Given the description of an element on the screen output the (x, y) to click on. 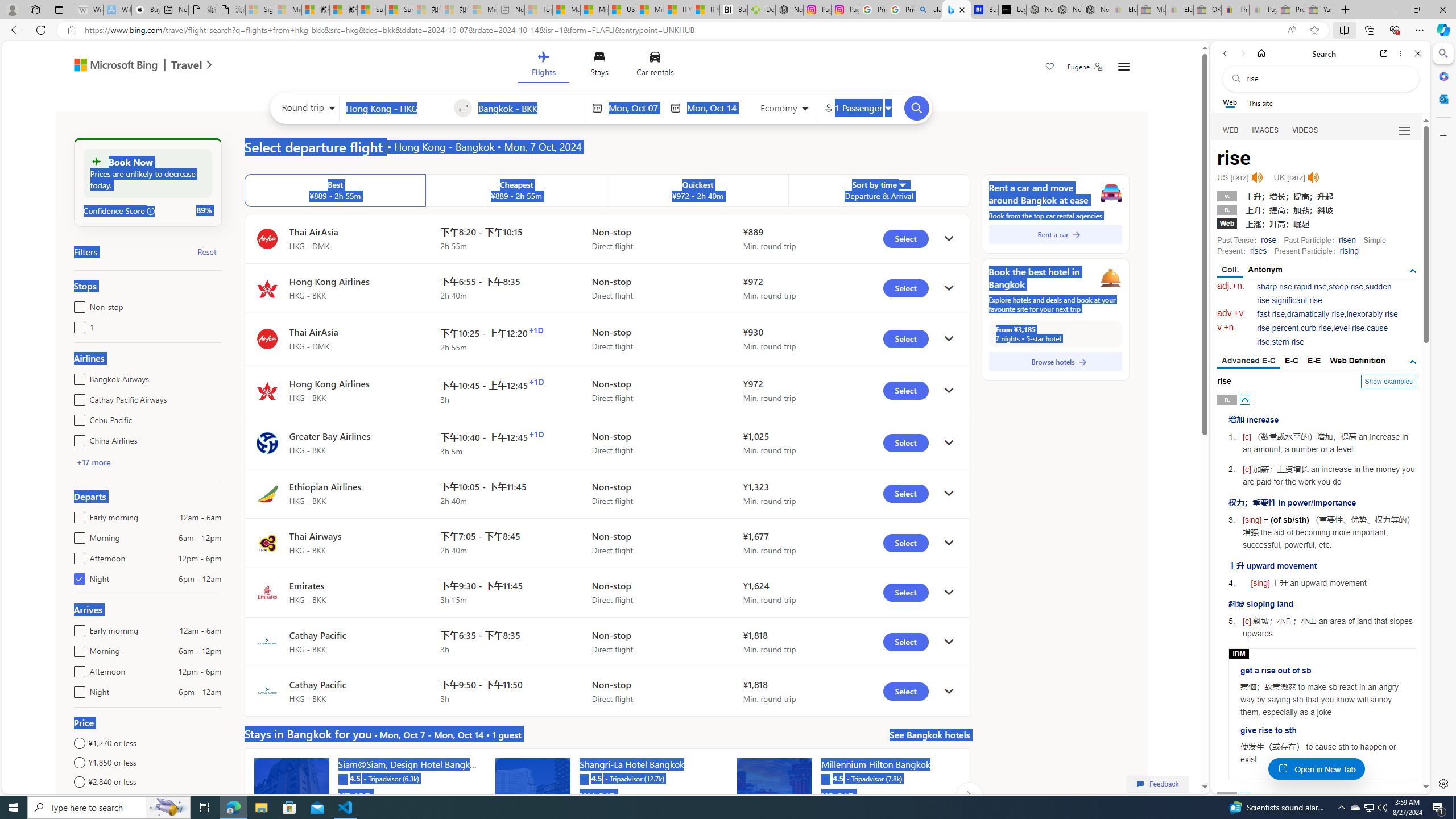
Search Filter, VIDEOS (1304, 129)
Microsoft Services Agreement - Sleeping (288, 9)
Payments Terms of Use | eBay.com - Sleeping (1262, 9)
Browse hotels (1055, 361)
VIDEOS (1304, 130)
stem rise (1287, 341)
1 (76, 325)
